Given the description of an element on the screen output the (x, y) to click on. 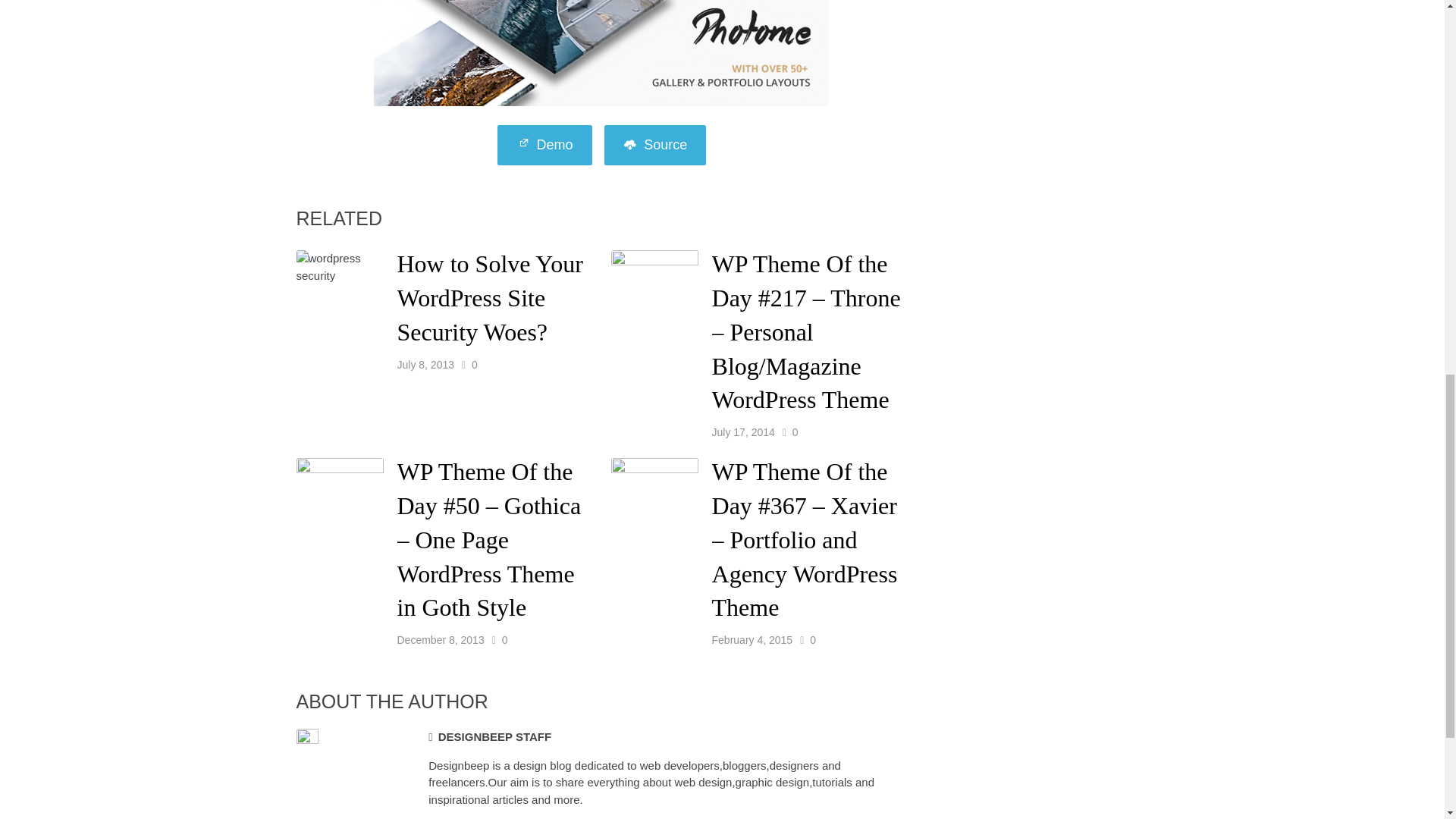
Source (655, 145)
Demo (544, 145)
How to Solve Your WordPress Site Security Woes? (490, 297)
0 (474, 364)
wordpress theme (655, 145)
best wordpress themes (544, 145)
How to Solve Your WordPress Site Security Woes? (490, 297)
